Given the description of an element on the screen output the (x, y) to click on. 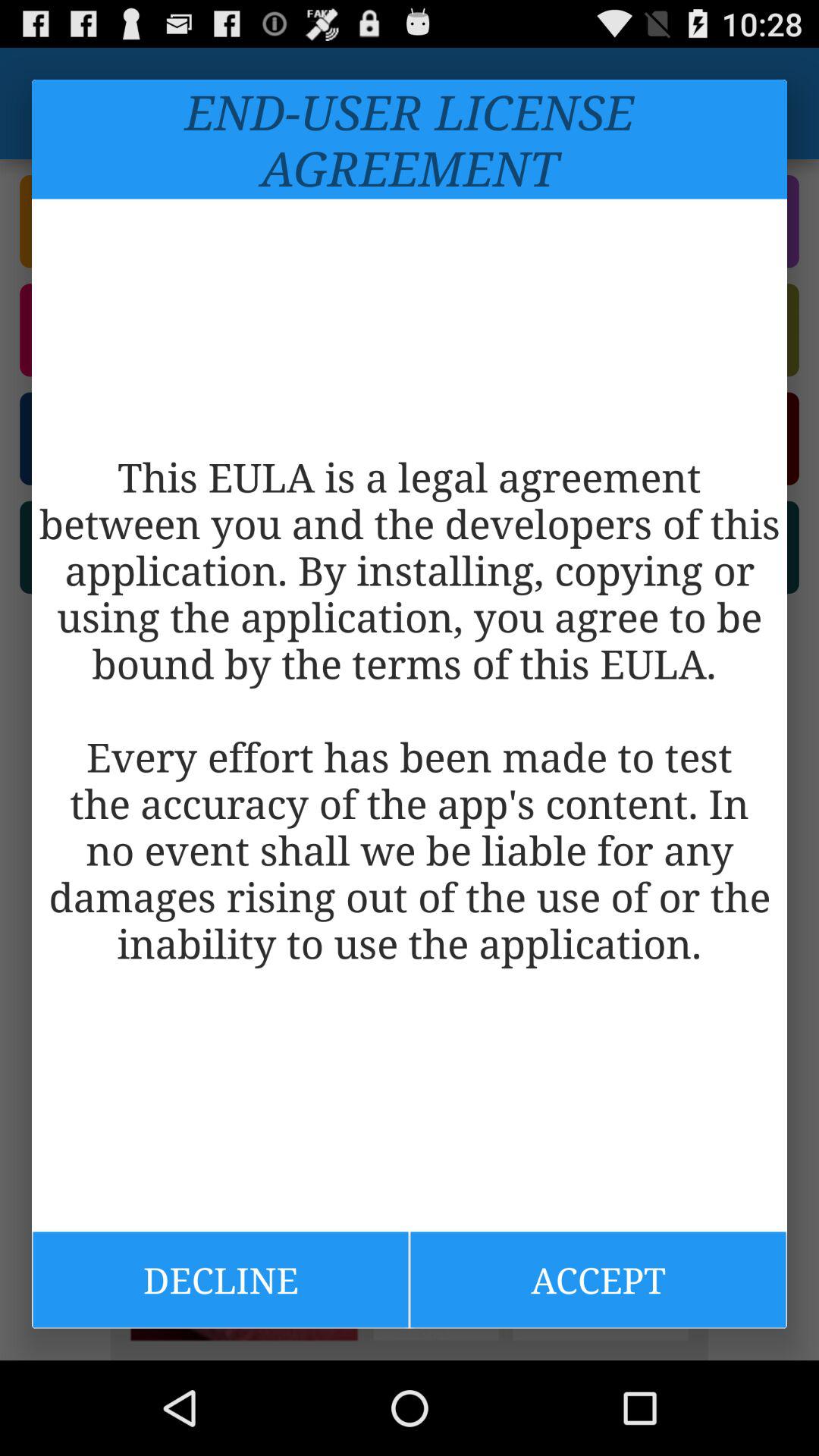
press icon at the top (409, 139)
